Given the description of an element on the screen output the (x, y) to click on. 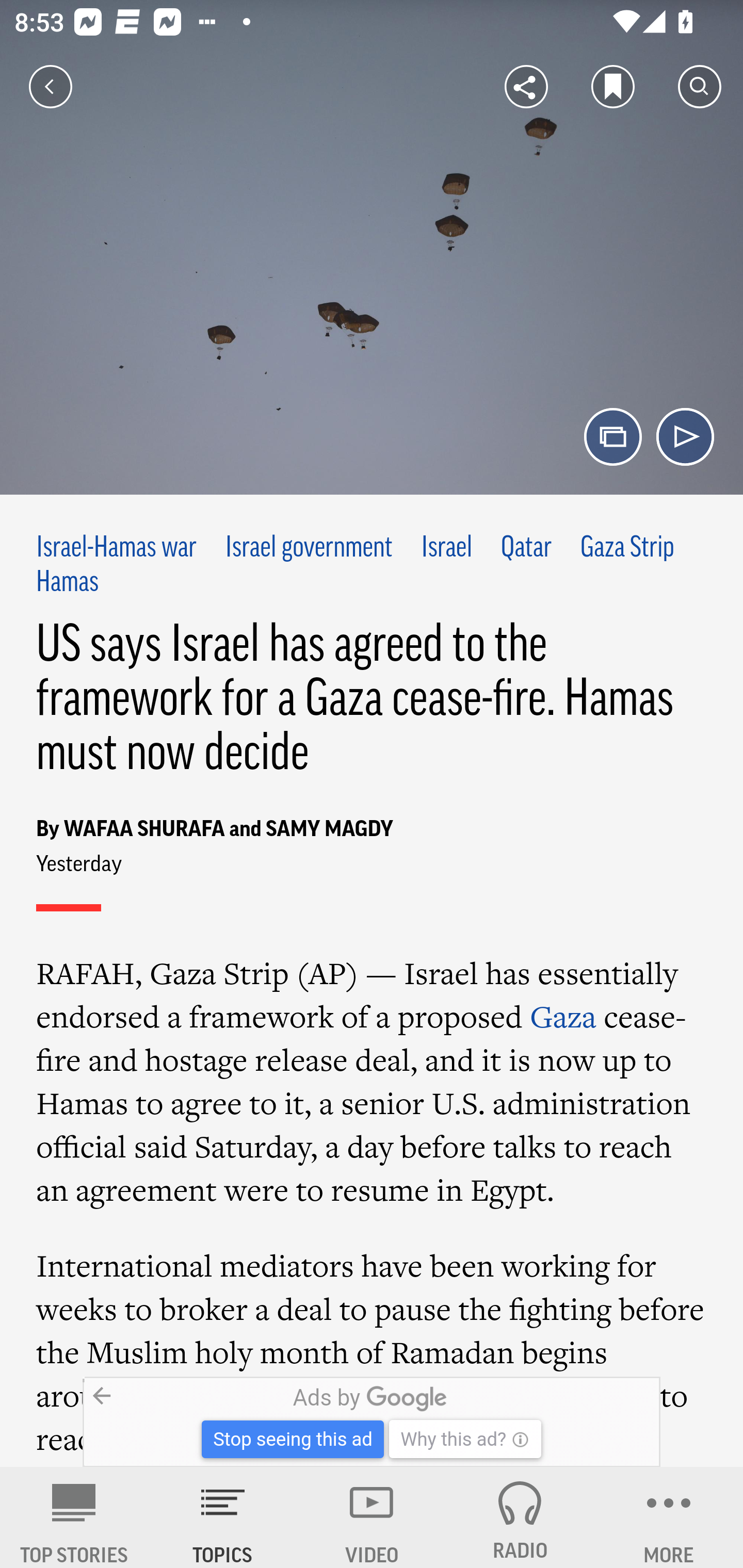
Israel-Hamas war (117, 548)
Israel government (308, 548)
Israel (446, 548)
Qatar (526, 548)
Gaza Strip (627, 548)
Hamas (67, 582)
Gaza (563, 1016)
AP News TOP STORIES (74, 1517)
TOPICS (222, 1517)
VIDEO (371, 1517)
RADIO (519, 1517)
MORE (668, 1517)
